Given the description of an element on the screen output the (x, y) to click on. 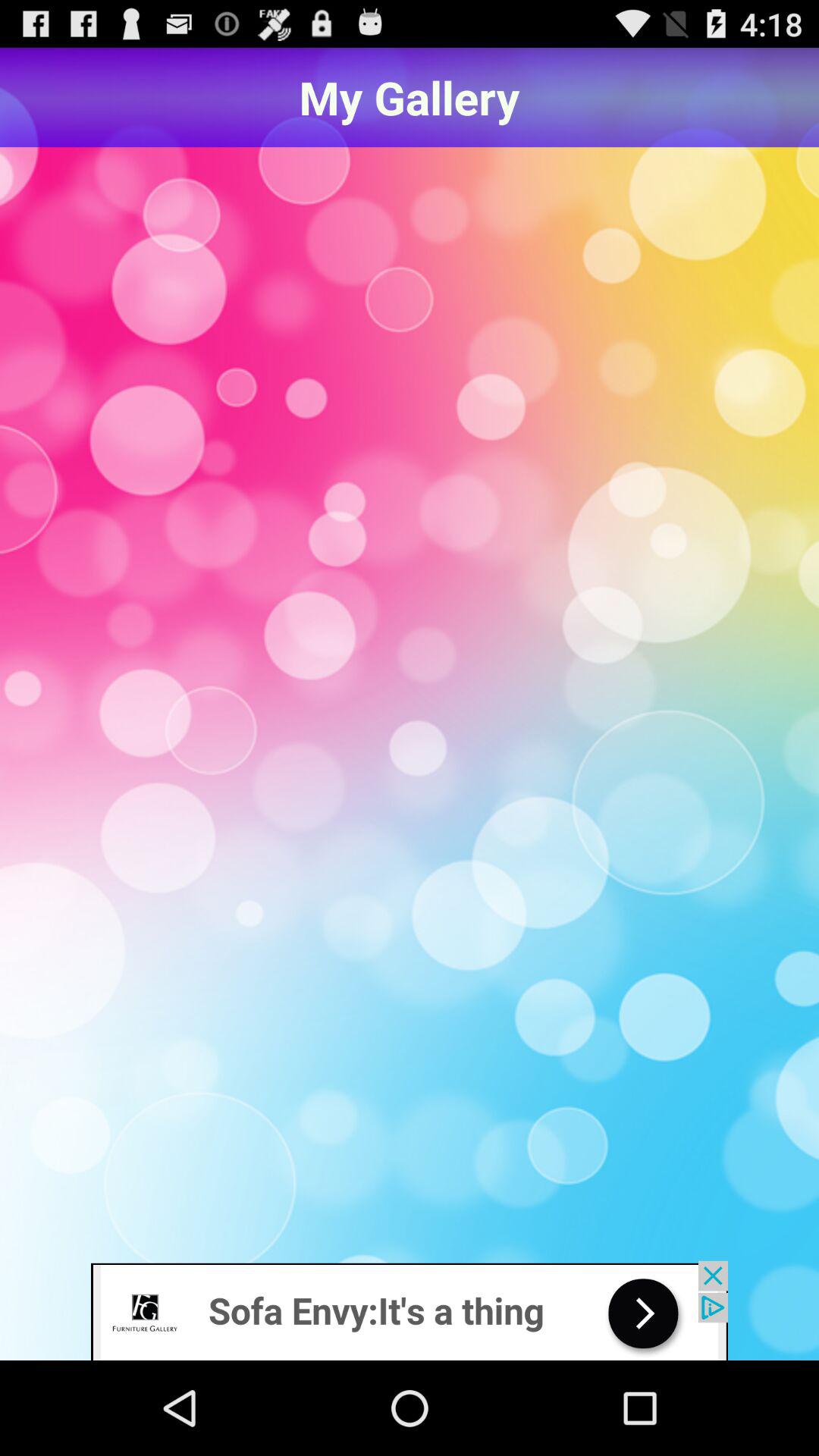
open advertisement (409, 1310)
